Given the description of an element on the screen output the (x, y) to click on. 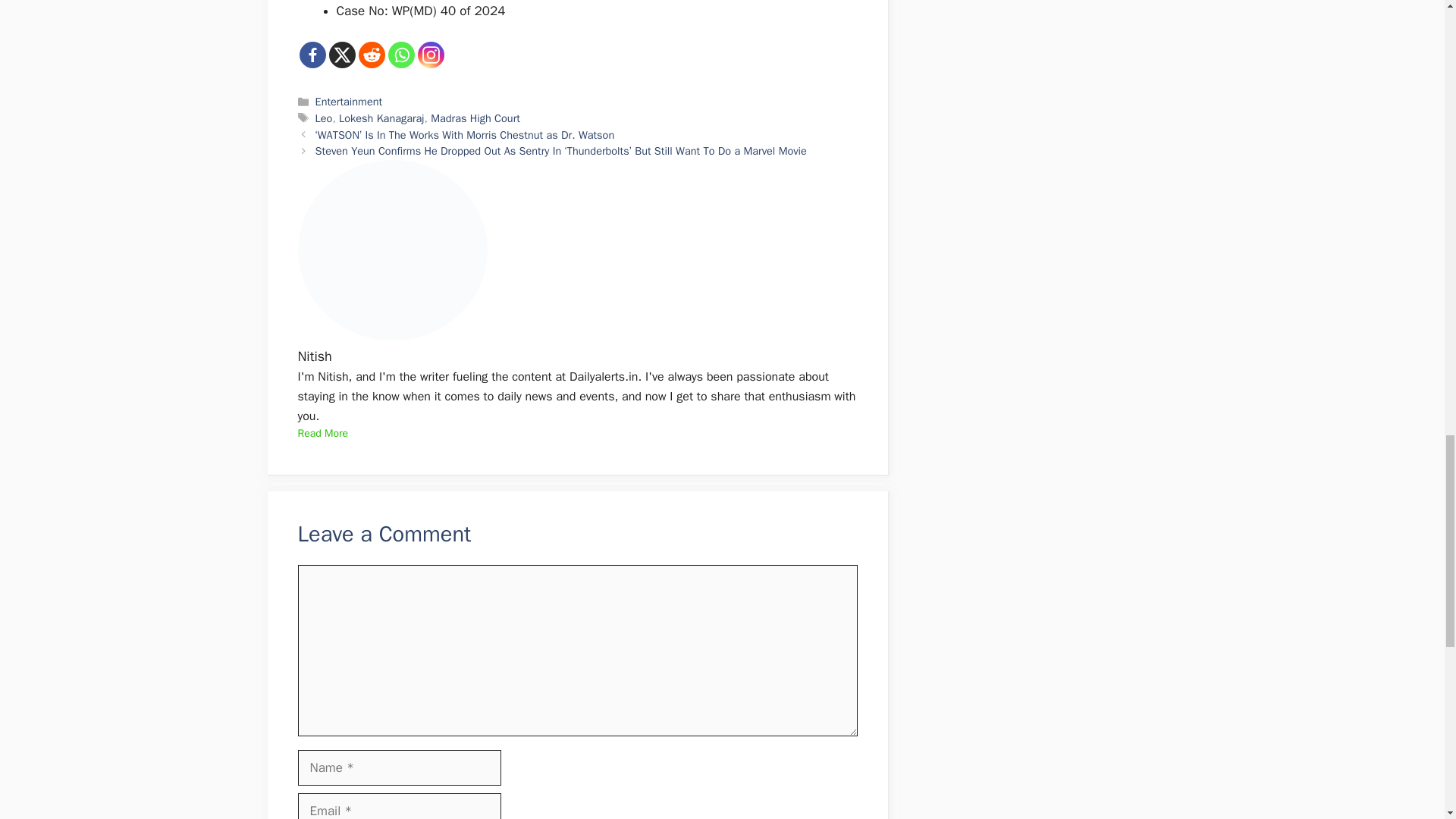
Madras High Court (474, 118)
Read More (322, 433)
Facebook (311, 53)
X (342, 53)
Whatsapp (401, 53)
Lokesh Kanagaraj (381, 118)
Entertainment (348, 101)
Leo (324, 118)
Reddit (371, 53)
Instagram (430, 53)
Read more about this author (322, 433)
